Given the description of an element on the screen output the (x, y) to click on. 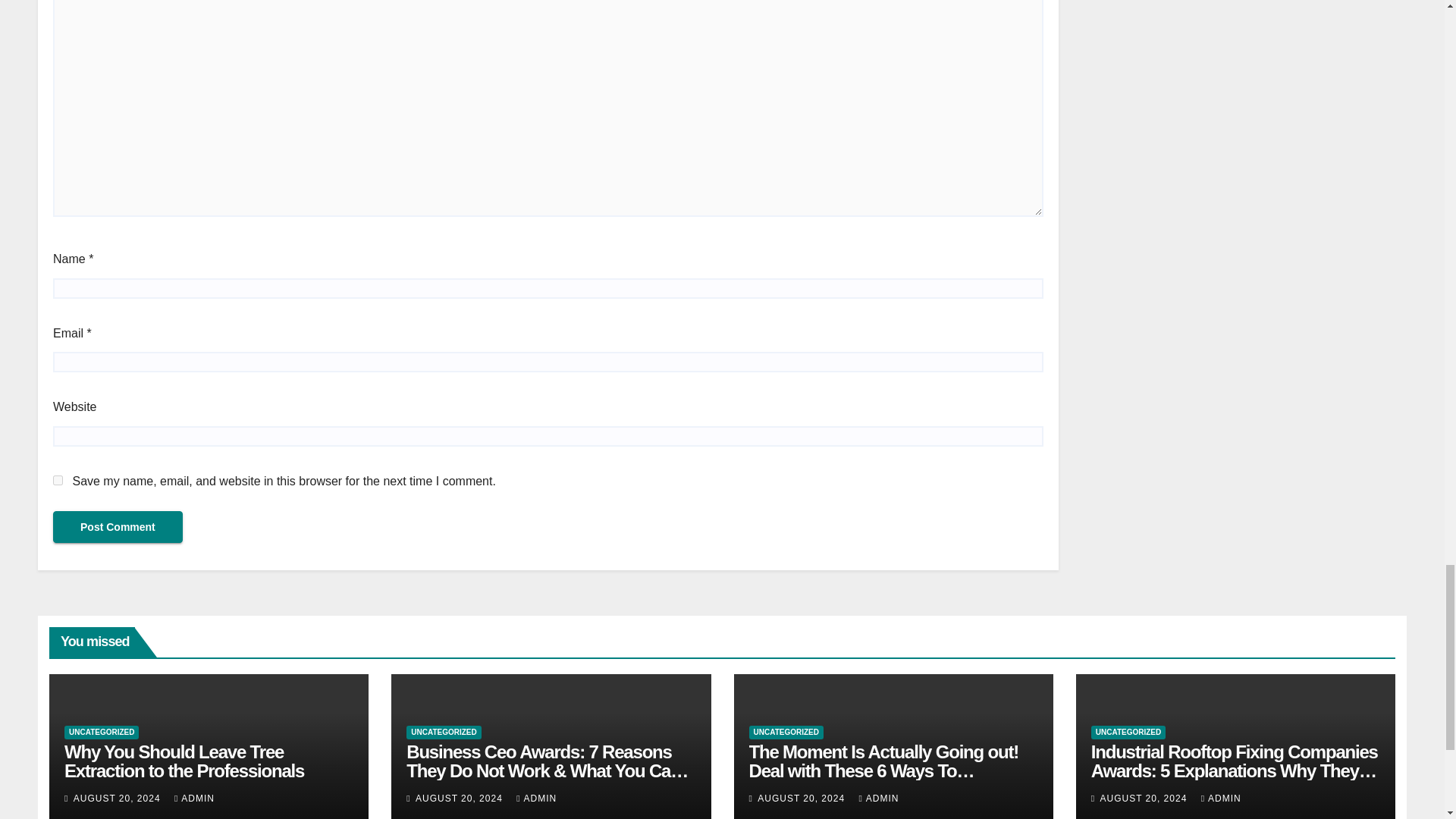
yes (57, 480)
Post Comment (117, 526)
Post Comment (117, 526)
